Given the description of an element on the screen output the (x, y) to click on. 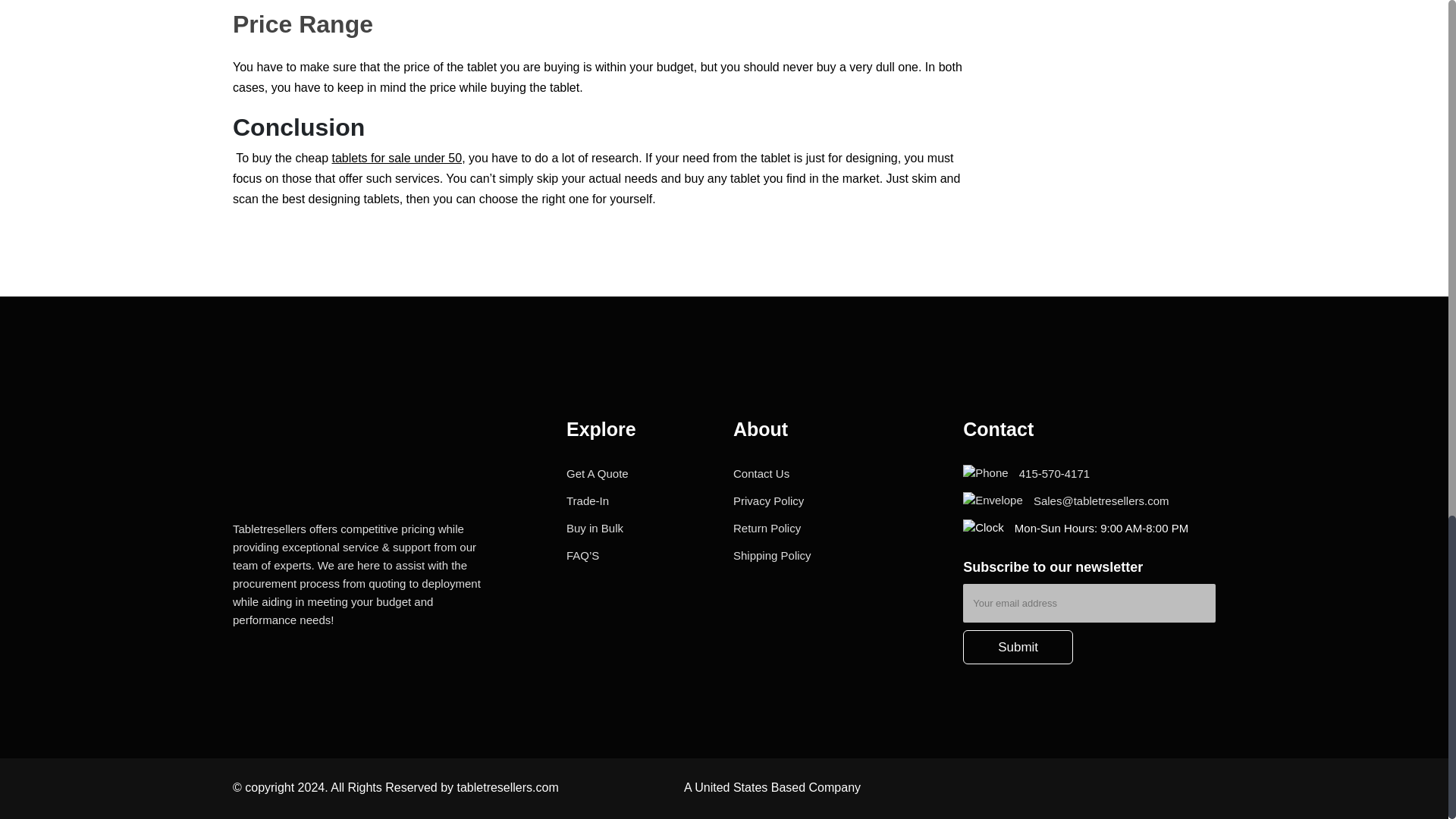
415-570-4171 (1025, 472)
Buy in Bulk (594, 527)
Shipping Policy (771, 554)
Contact Us (761, 472)
Privacy Policy (768, 500)
Get A Quote (597, 472)
Submit (1017, 647)
Submit (1017, 647)
Return Policy (766, 527)
Mon-Sun Hours: 9:00 AM-8:00 PM (1075, 527)
